Given the description of an element on the screen output the (x, y) to click on. 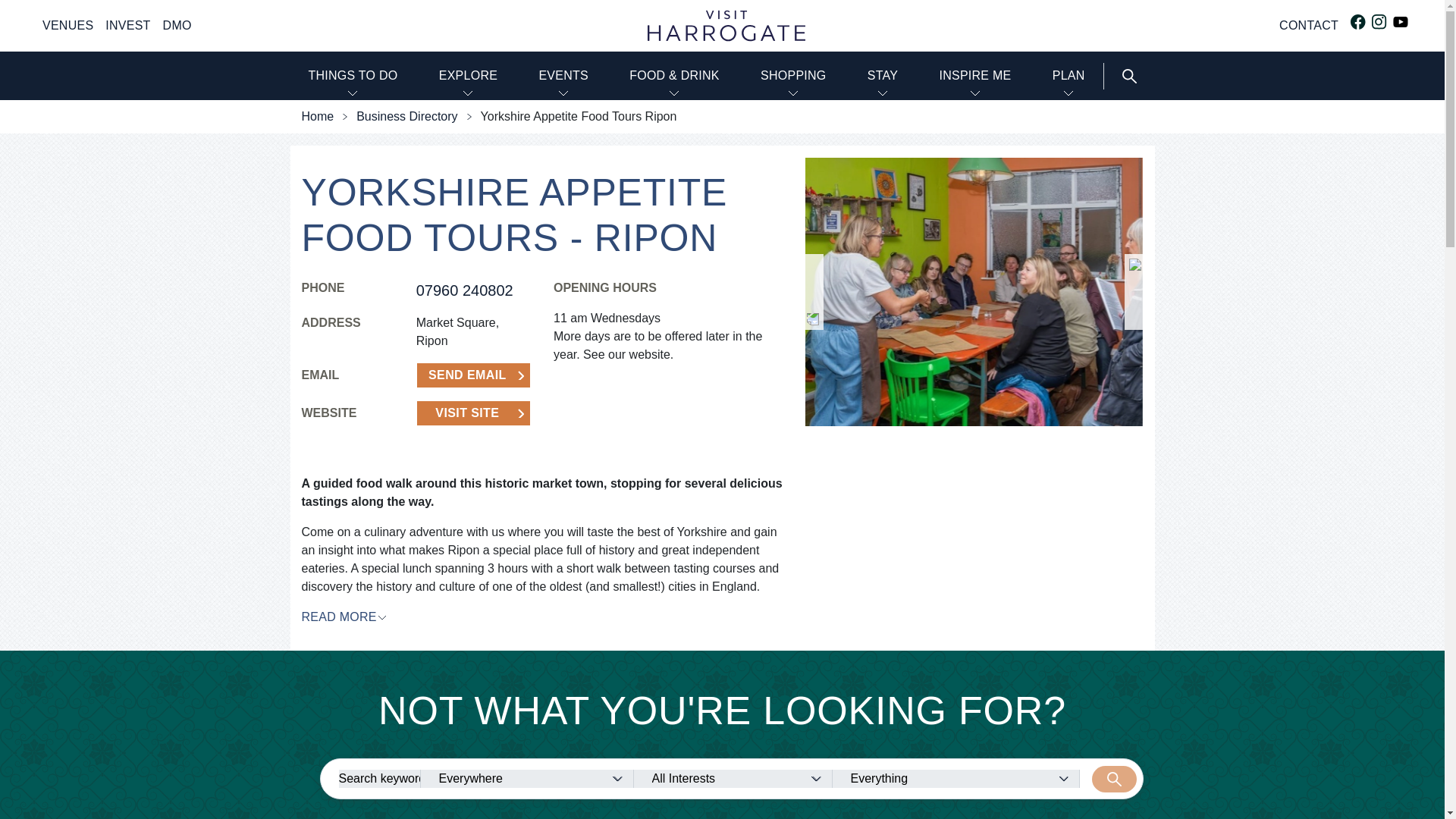
Things To Do (352, 75)
Explore (468, 75)
VENUES (67, 25)
Visit Harrogate Facebook (1358, 21)
Contact (1308, 25)
Venues (67, 25)
DMO (177, 25)
Visit Harrogate Instagram (1379, 21)
DMO (177, 25)
Visit Harrogate Youtube (1400, 21)
INVEST (127, 25)
Invest (127, 25)
EXPLORE (468, 75)
CONTACT (1308, 25)
THINGS TO DO (352, 75)
